Given the description of an element on the screen output the (x, y) to click on. 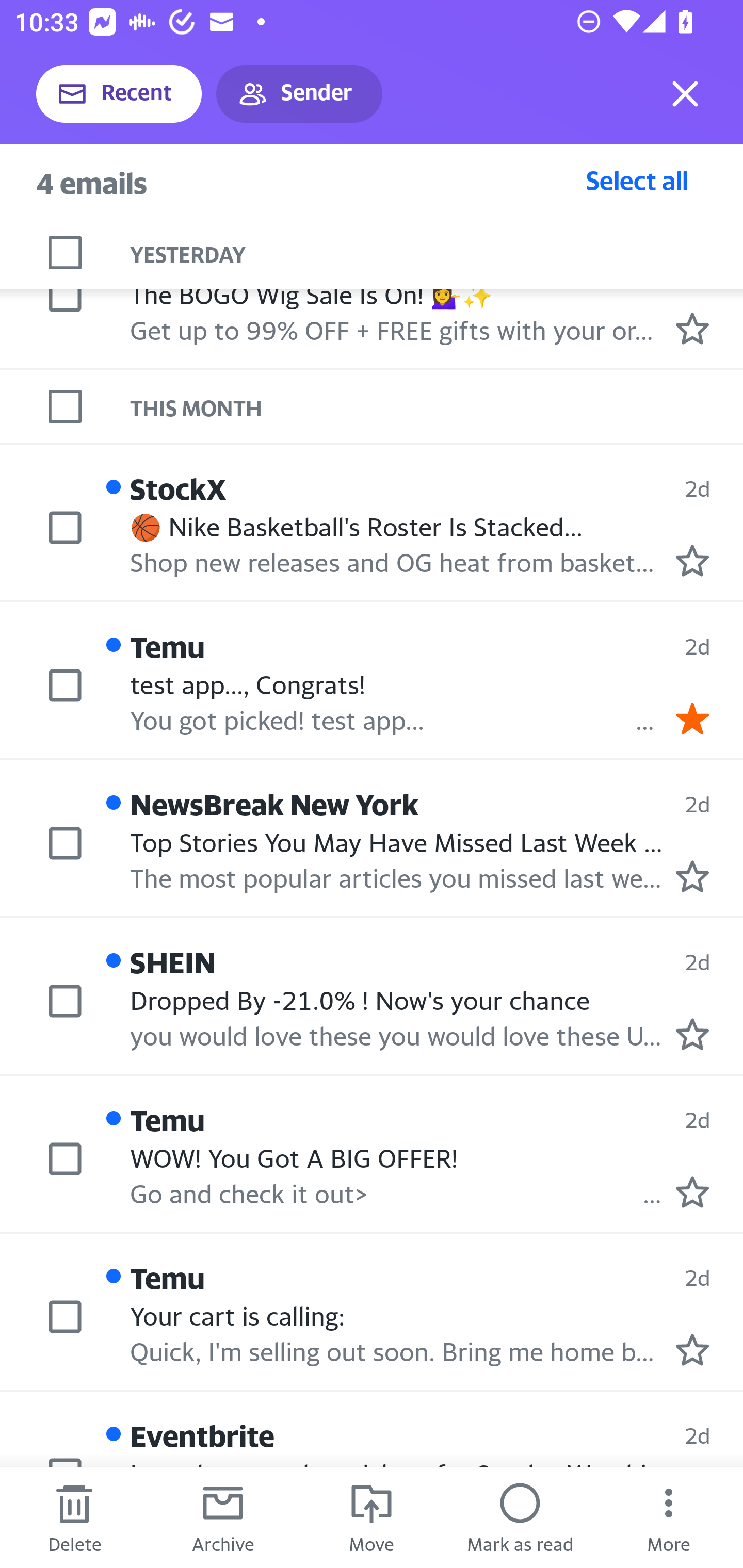
Sender (299, 93)
Exit selection mode (684, 93)
Select all (637, 180)
Mark as starred. (692, 328)
THIS MONTH (436, 406)
Mark as starred. (692, 560)
Remove star. (692, 718)
Mark as starred. (692, 875)
Mark as starred. (692, 1034)
Mark as starred. (692, 1192)
Mark as starred. (692, 1349)
Delete (74, 1517)
Archive (222, 1517)
Move (371, 1517)
Mark as read (519, 1517)
More (668, 1517)
